Given the description of an element on the screen output the (x, y) to click on. 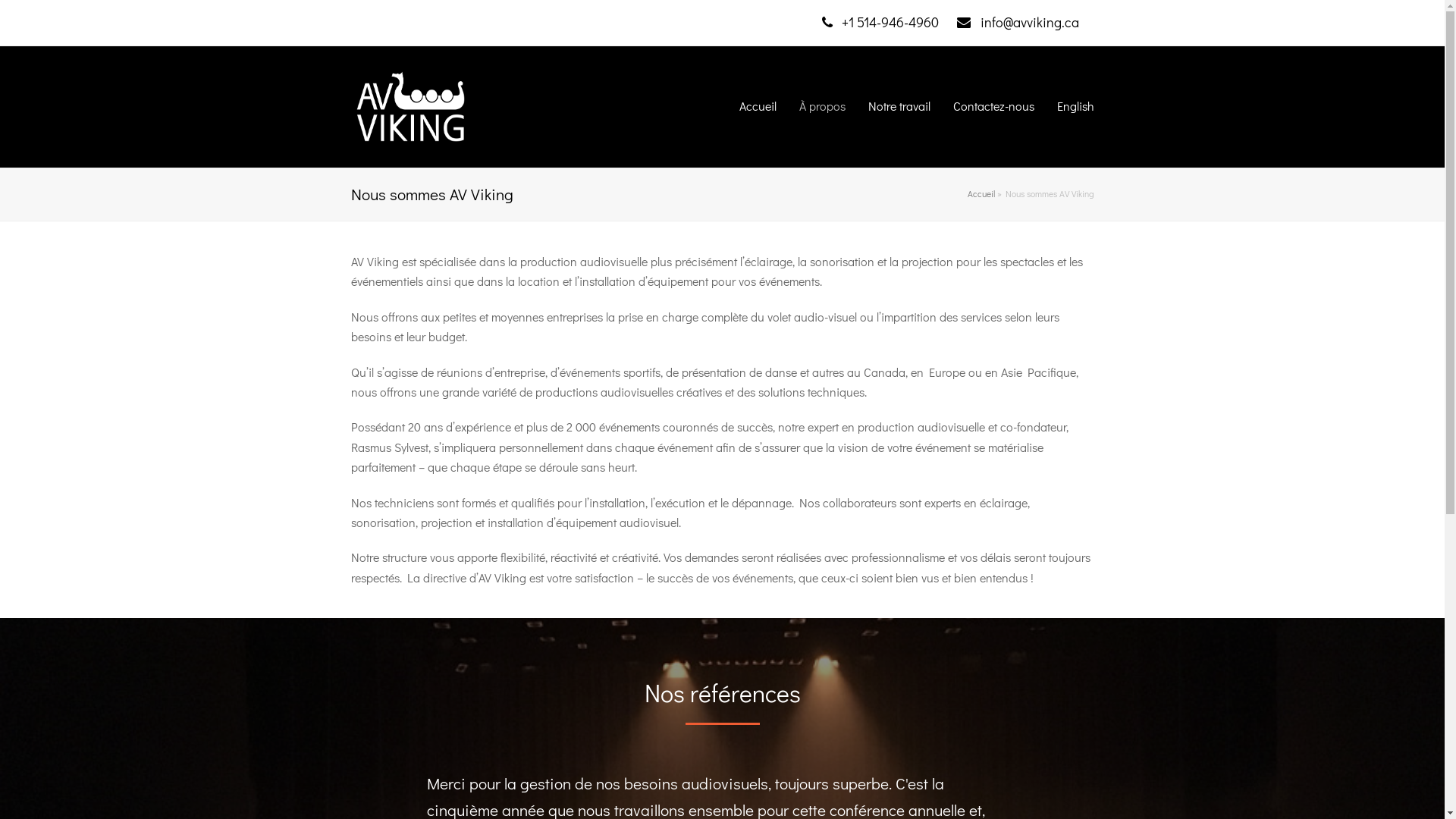
info@avviking.ca Element type: text (1025, 21)
Contactez-nous Element type: text (993, 106)
Notre travail Element type: text (898, 106)
Accueil Element type: text (757, 106)
English Element type: text (1074, 106)
Accueil Element type: text (980, 193)
+1 514-946-4960 Element type: text (887, 21)
